Given the description of an element on the screen output the (x, y) to click on. 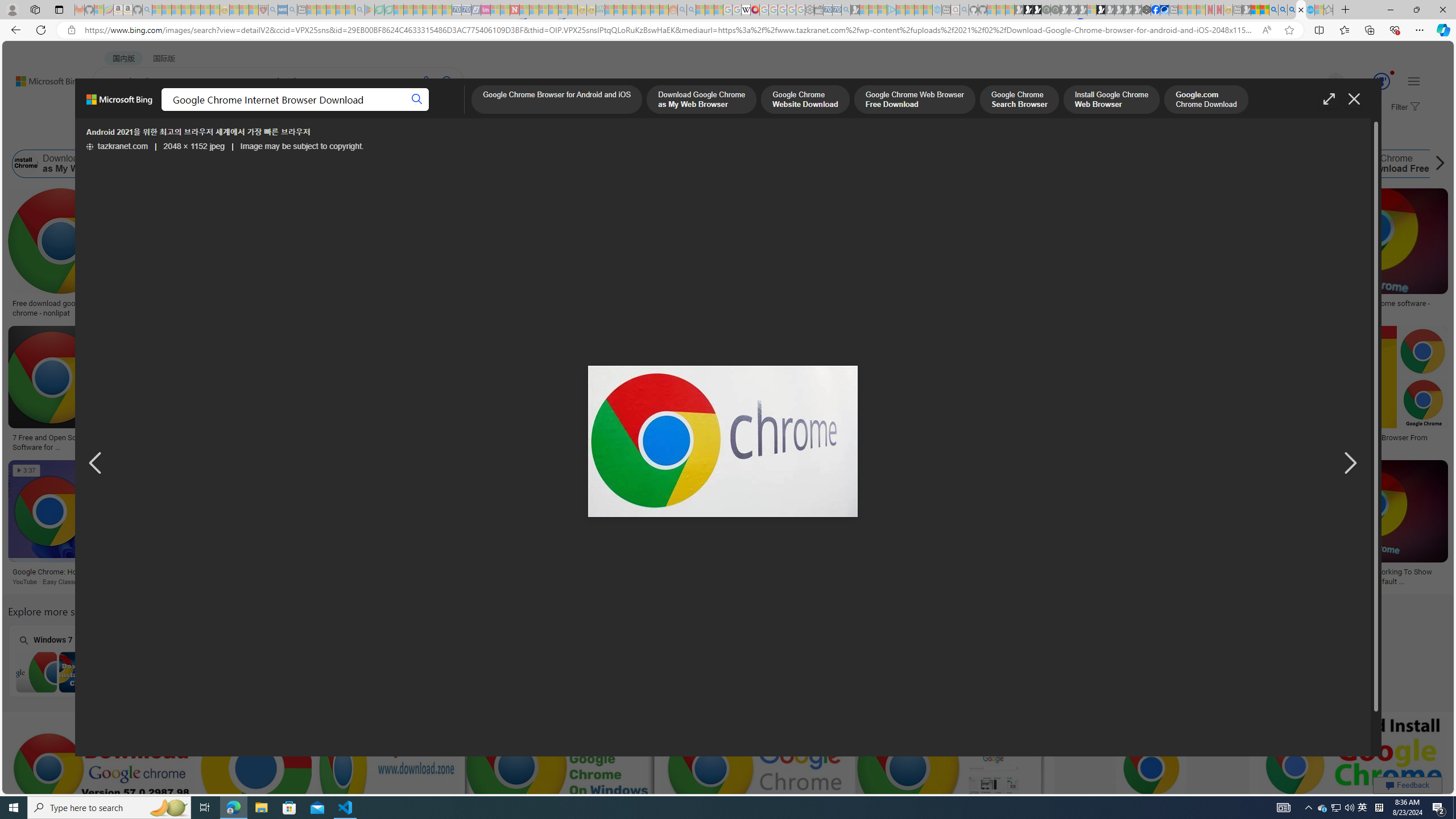
WEB (114, 111)
Bluey: Let's Play! - Apps on Google Play - Sleeping (369, 9)
Cheap Hotels - Save70.com - Sleeping (466, 9)
Internet Google Chrome (1108, 163)
Dropdown Menu (451, 111)
People (295, 135)
Descargar Google Chrome Para Pc 2021 Windows 7810Save (209, 390)
Date (336, 135)
Google Chrome UK Download Free (1331, 163)
Chrome Browser Download Windows 10 64-Bit Windows 10 64-Bit (370, 660)
